Given the description of an element on the screen output the (x, y) to click on. 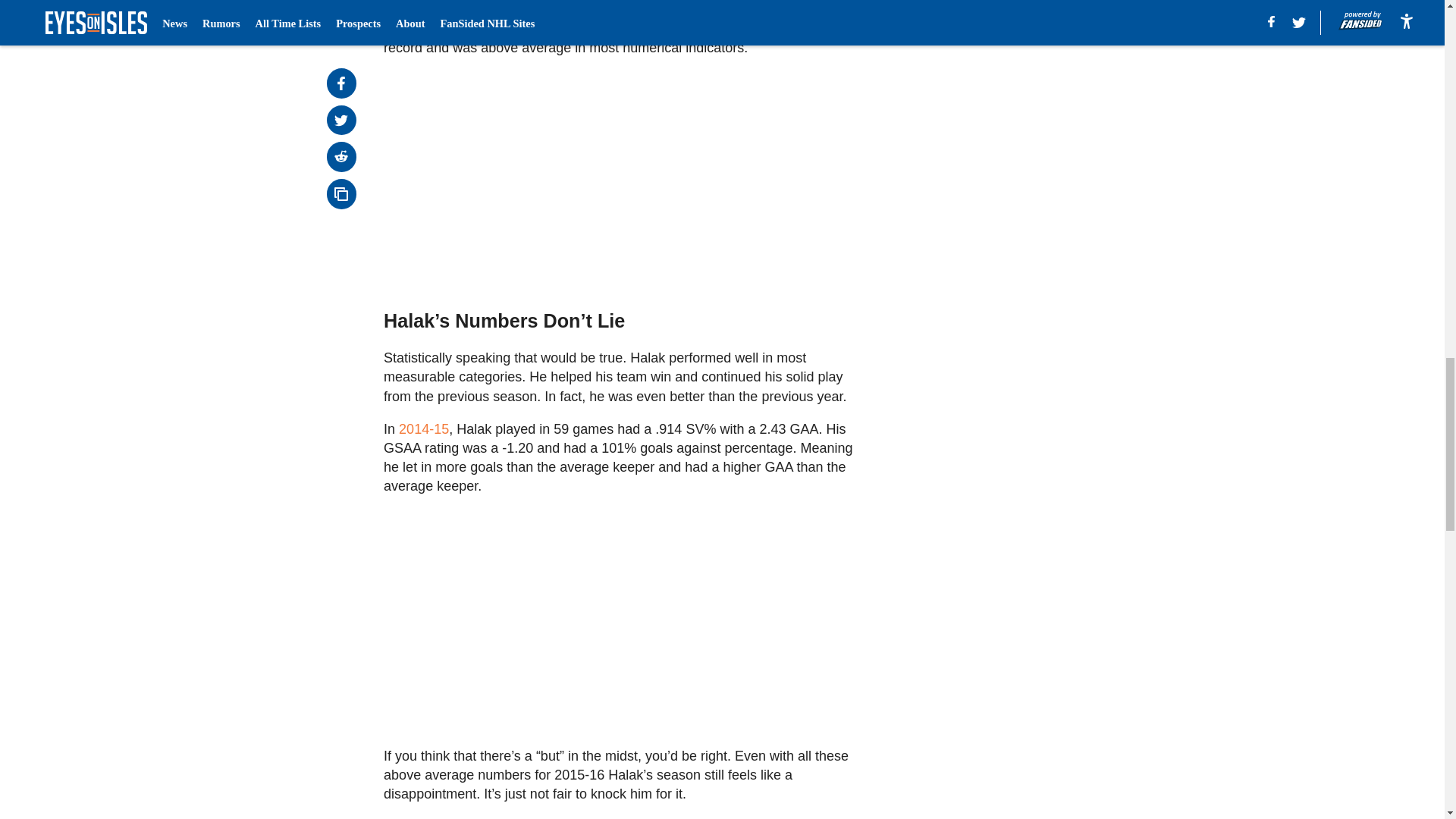
2014-15 (423, 428)
